Given the description of an element on the screen output the (x, y) to click on. 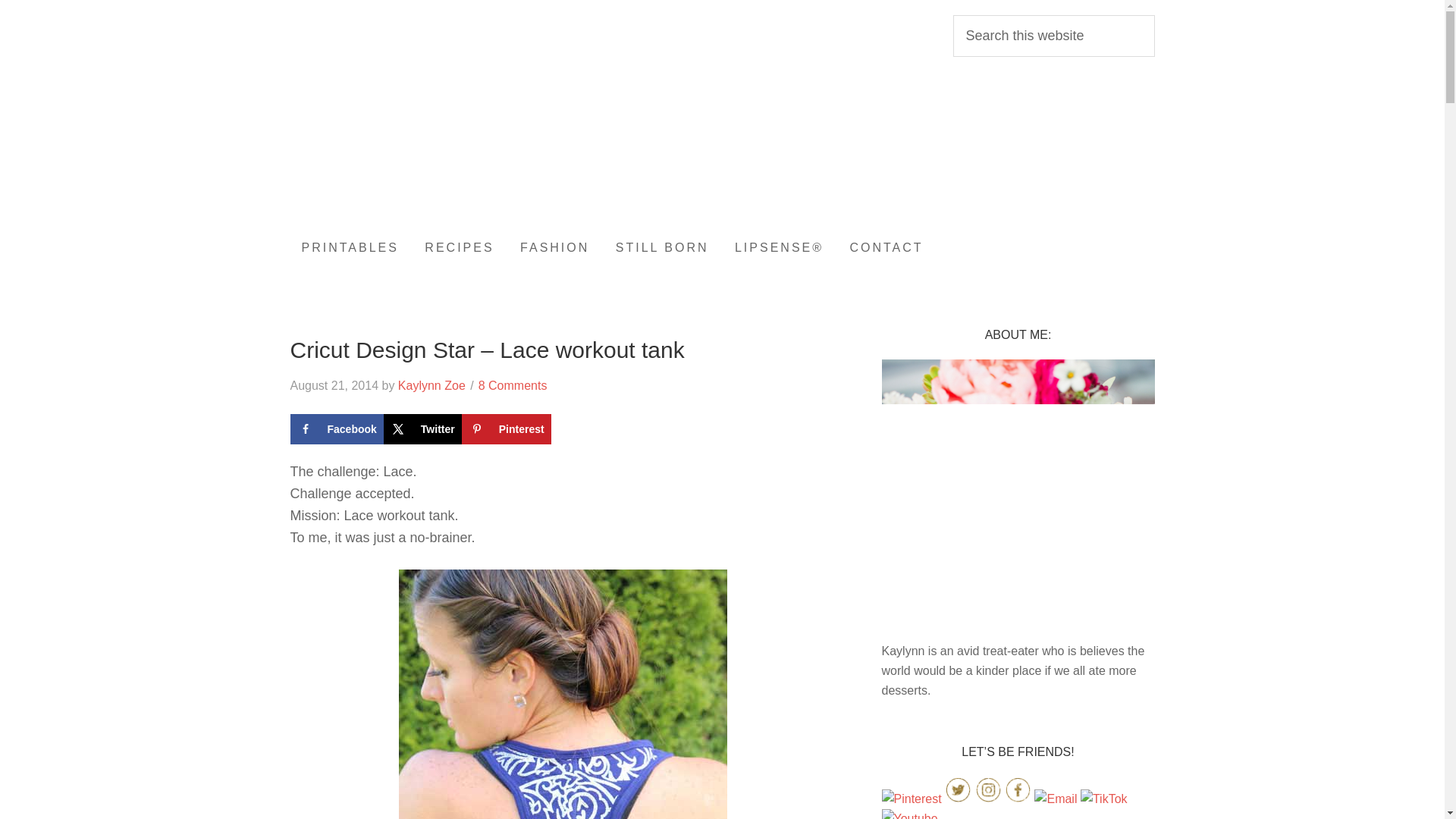
Share on X (422, 429)
YouTube (908, 815)
Save to Pinterest (506, 429)
About me:  (1017, 631)
Twitter (422, 429)
PRINTABLES (349, 247)
Facebook (1017, 798)
8 Comments (513, 385)
Share on Facebook (335, 429)
